Given the description of an element on the screen output the (x, y) to click on. 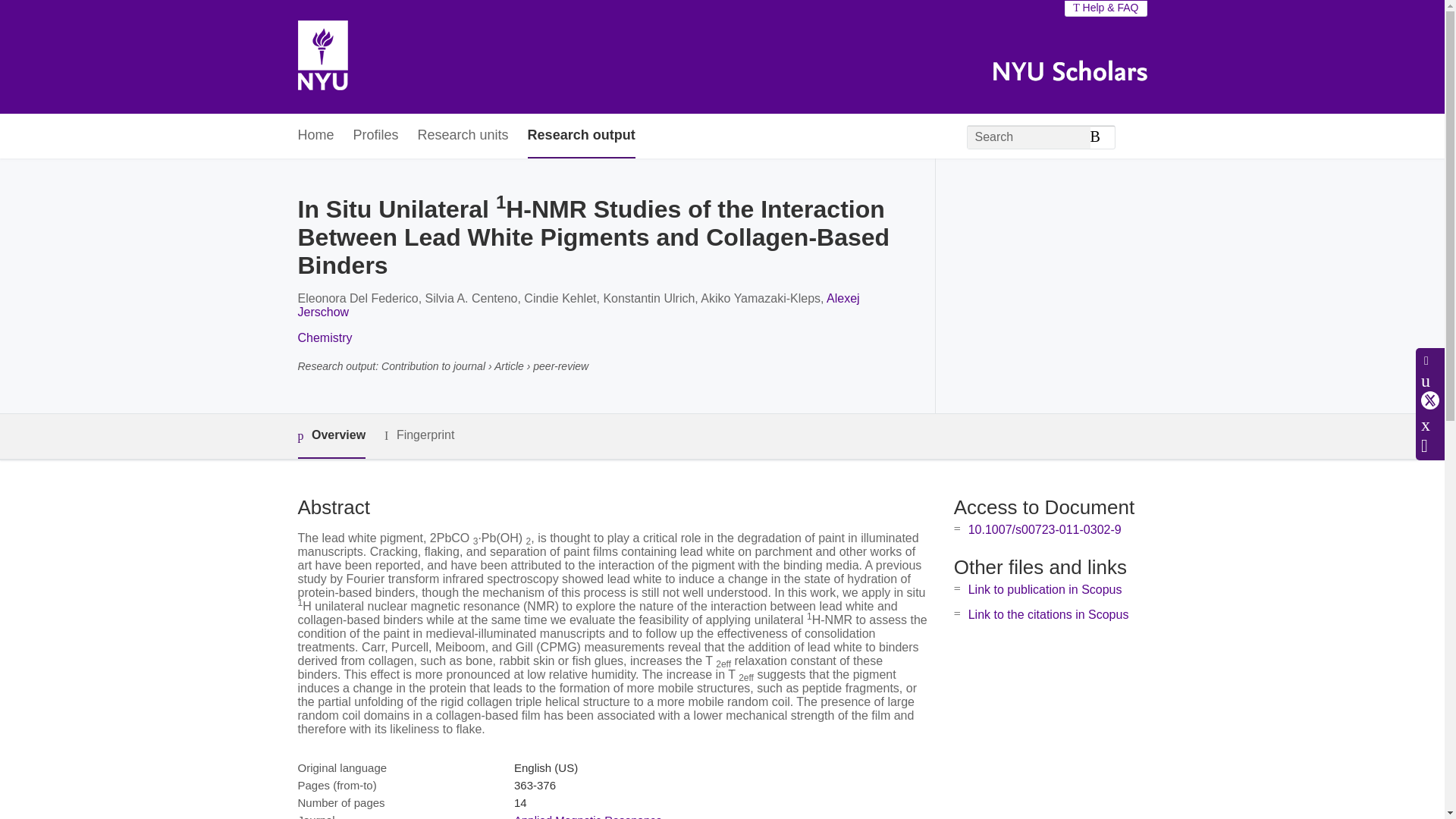
Link to publication in Scopus (1045, 589)
Chemistry (324, 337)
Fingerprint (419, 435)
Research units (462, 135)
Research output (580, 135)
Alexej Jerschow (578, 304)
Overview (331, 436)
Profiles (375, 135)
Link to the citations in Scopus (1048, 614)
